Given the description of an element on the screen output the (x, y) to click on. 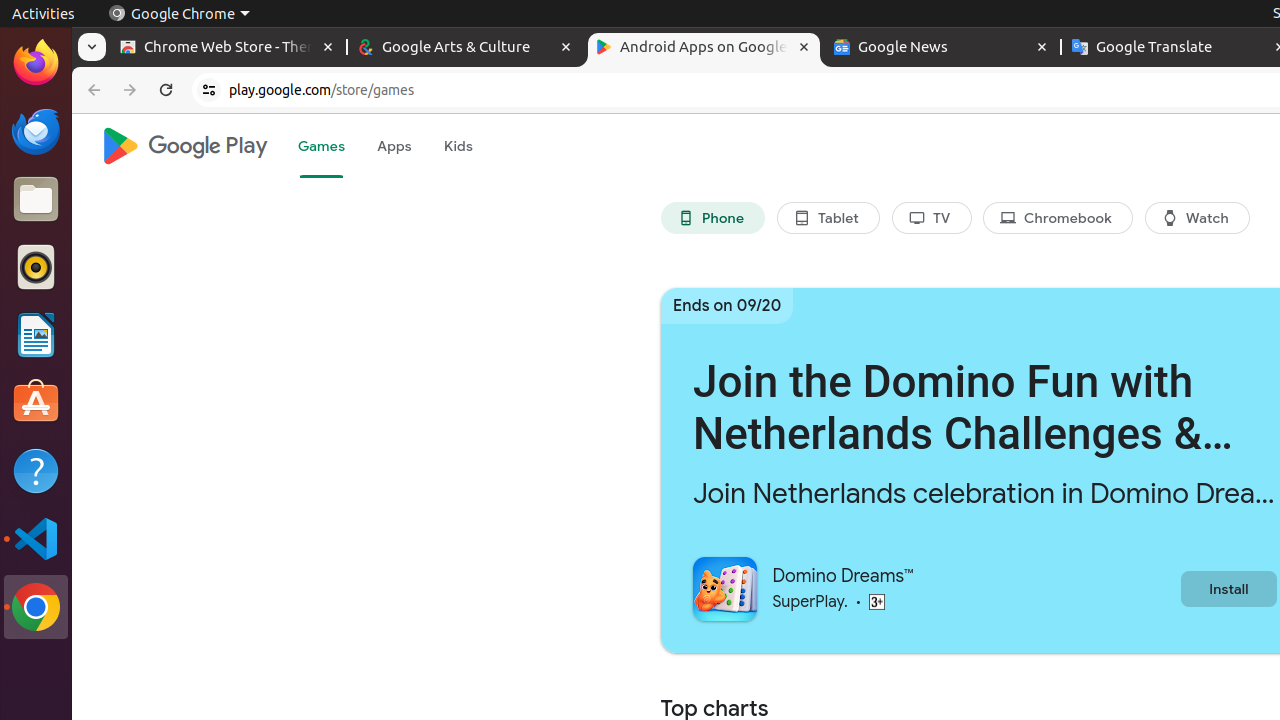
Google Play logo Element type: link (184, 146)
Back Element type: push-button (91, 90)
Google Arts & Culture - Memory usage - 86.5 MB Element type: page-tab (466, 47)
Google News - Memory usage - 61.7 MB Element type: page-tab (942, 47)
Tablet Element type: link (828, 218)
